Given the description of an element on the screen output the (x, y) to click on. 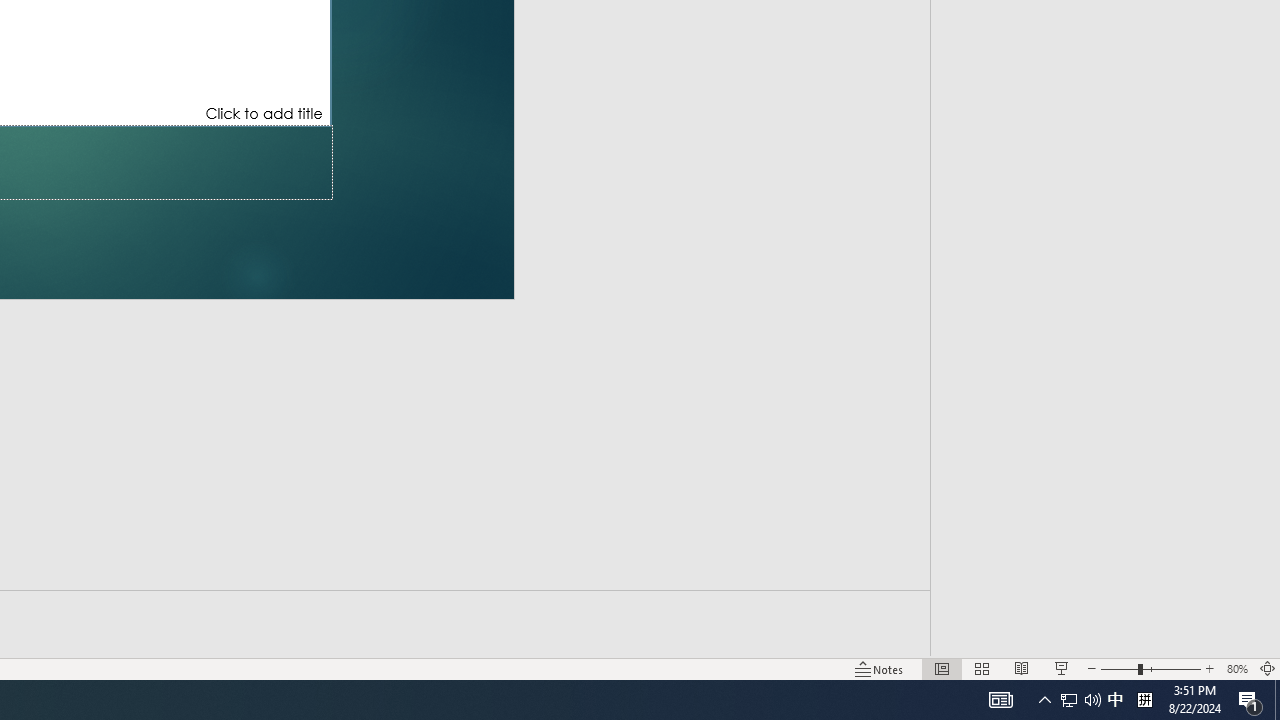
Zoom 80% (1236, 668)
